Given the description of an element on the screen output the (x, y) to click on. 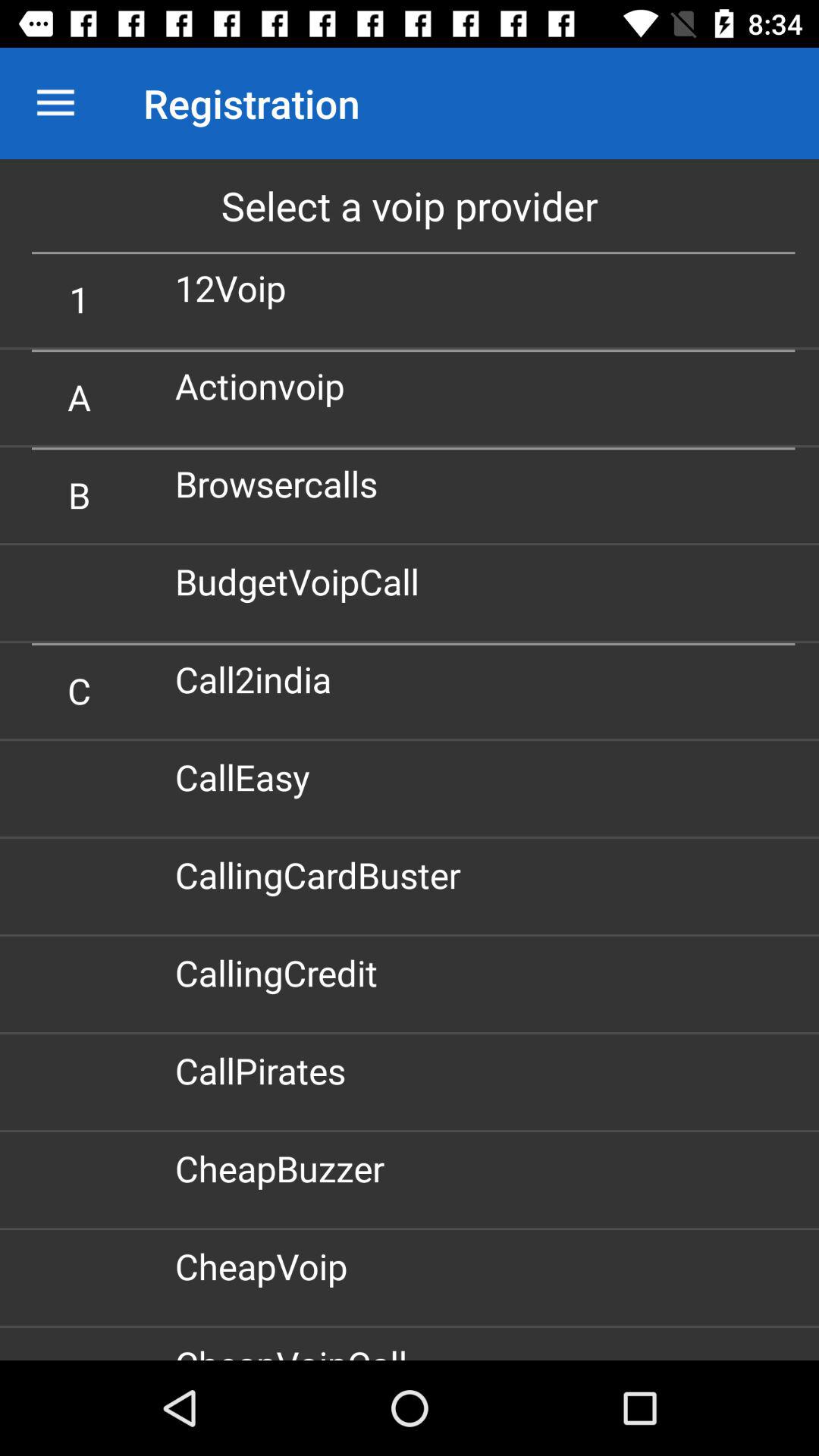
open item below callpirates item (285, 1168)
